Given the description of an element on the screen output the (x, y) to click on. 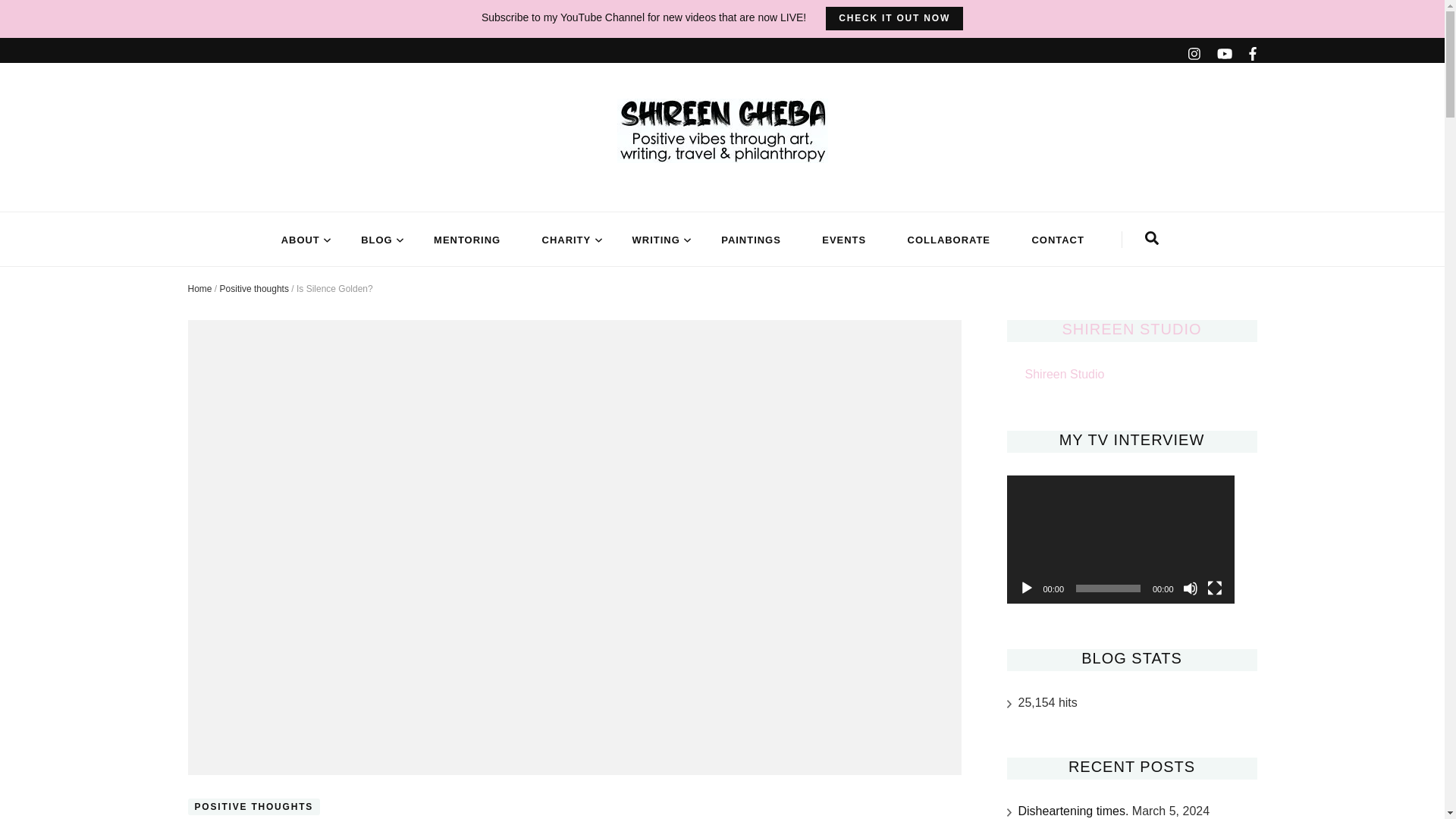
BLOG (376, 240)
Shireen Gheba (328, 193)
CHARITY (566, 240)
ABOUT (300, 240)
WRITING (655, 240)
MENTORING (466, 240)
CHECK IT OUT NOW (893, 18)
